Given the description of an element on the screen output the (x, y) to click on. 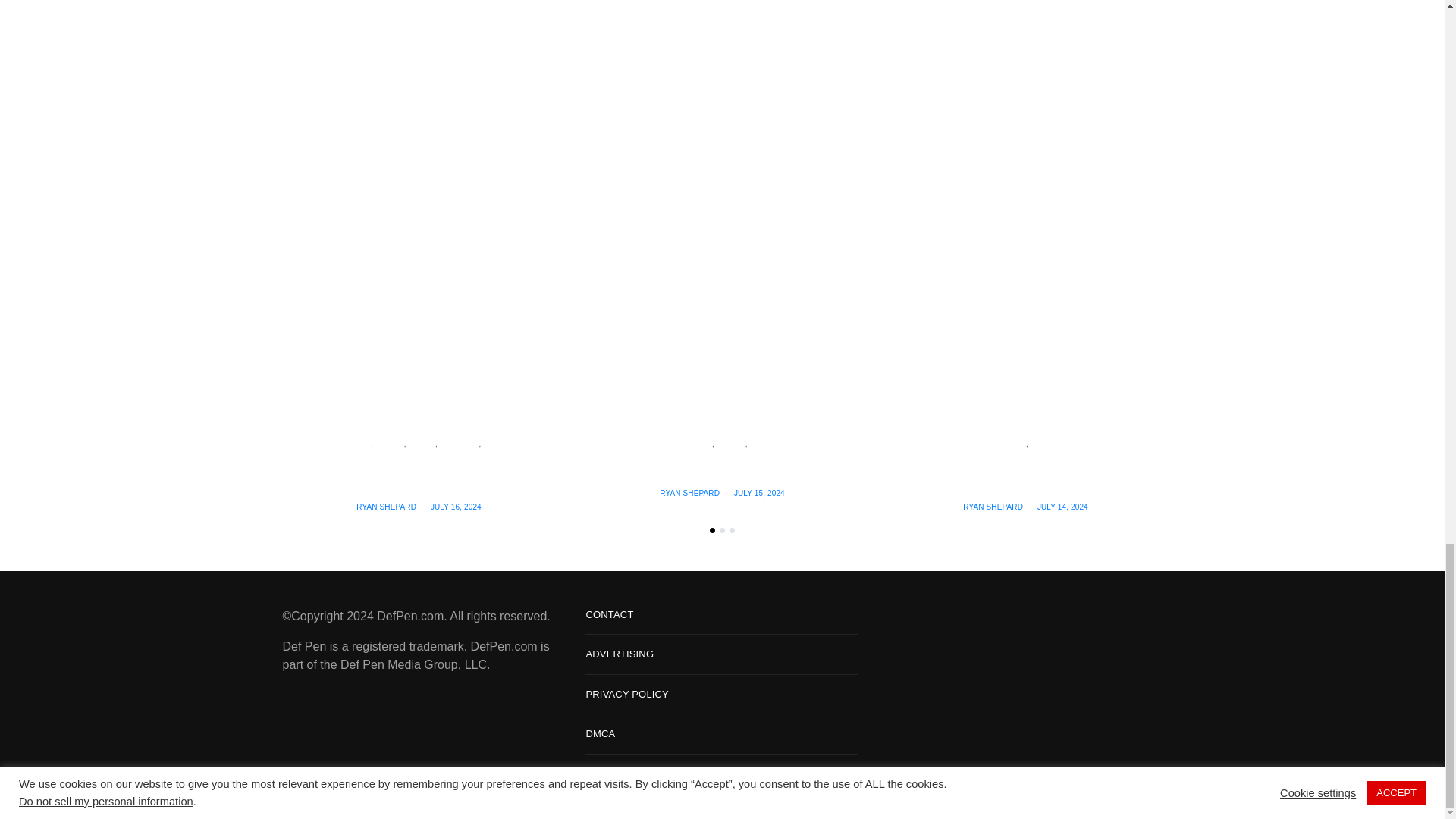
View all posts by Ryan Shepard (386, 506)
View all posts by Ryan Shepard (992, 506)
View all posts by Ryan Shepard (689, 492)
